Given the description of an element on the screen output the (x, y) to click on. 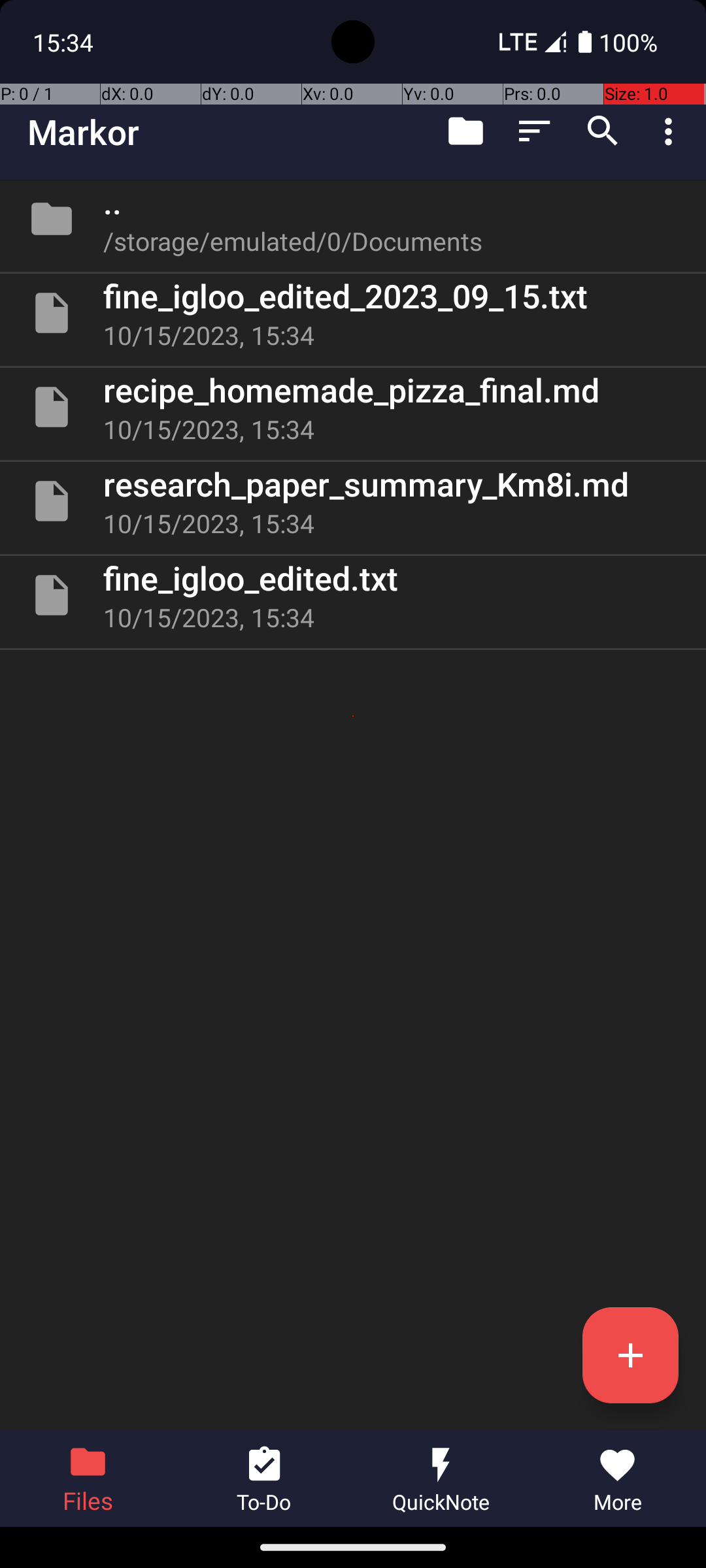
File fine_igloo_edited_2023_09_15.txt  Element type: android.widget.LinearLayout (353, 312)
File recipe_homemade_pizza_final.md  Element type: android.widget.LinearLayout (353, 406)
File research_paper_summary_Km8i.md  Element type: android.widget.LinearLayout (353, 500)
File fine_igloo_edited.txt  Element type: android.widget.LinearLayout (353, 594)
